Given the description of an element on the screen output the (x, y) to click on. 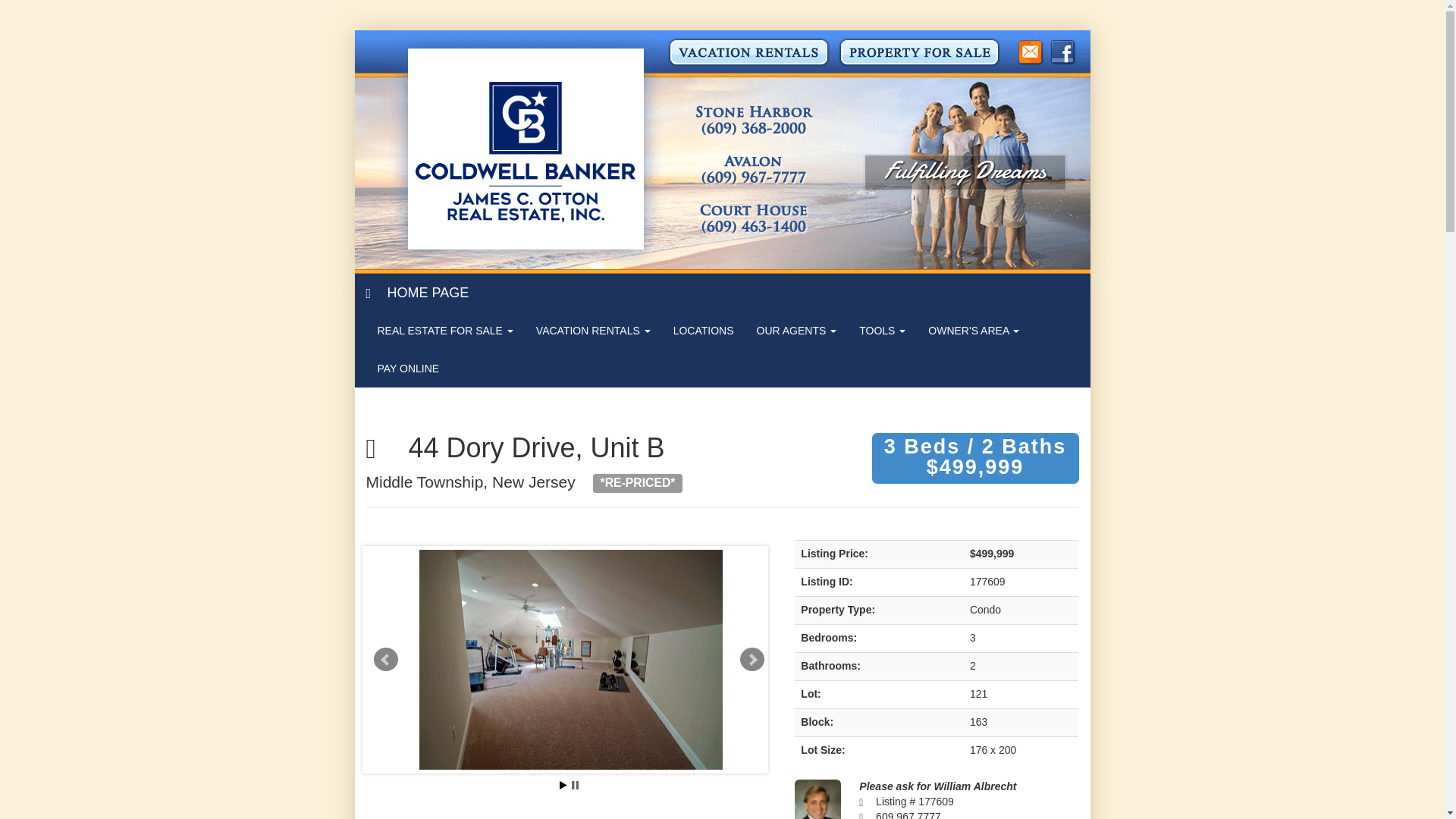
 HOME PAGE (417, 292)
VACATION RENTALS (593, 330)
REAL ESTATE FOR SALE (444, 330)
